Given the description of an element on the screen output the (x, y) to click on. 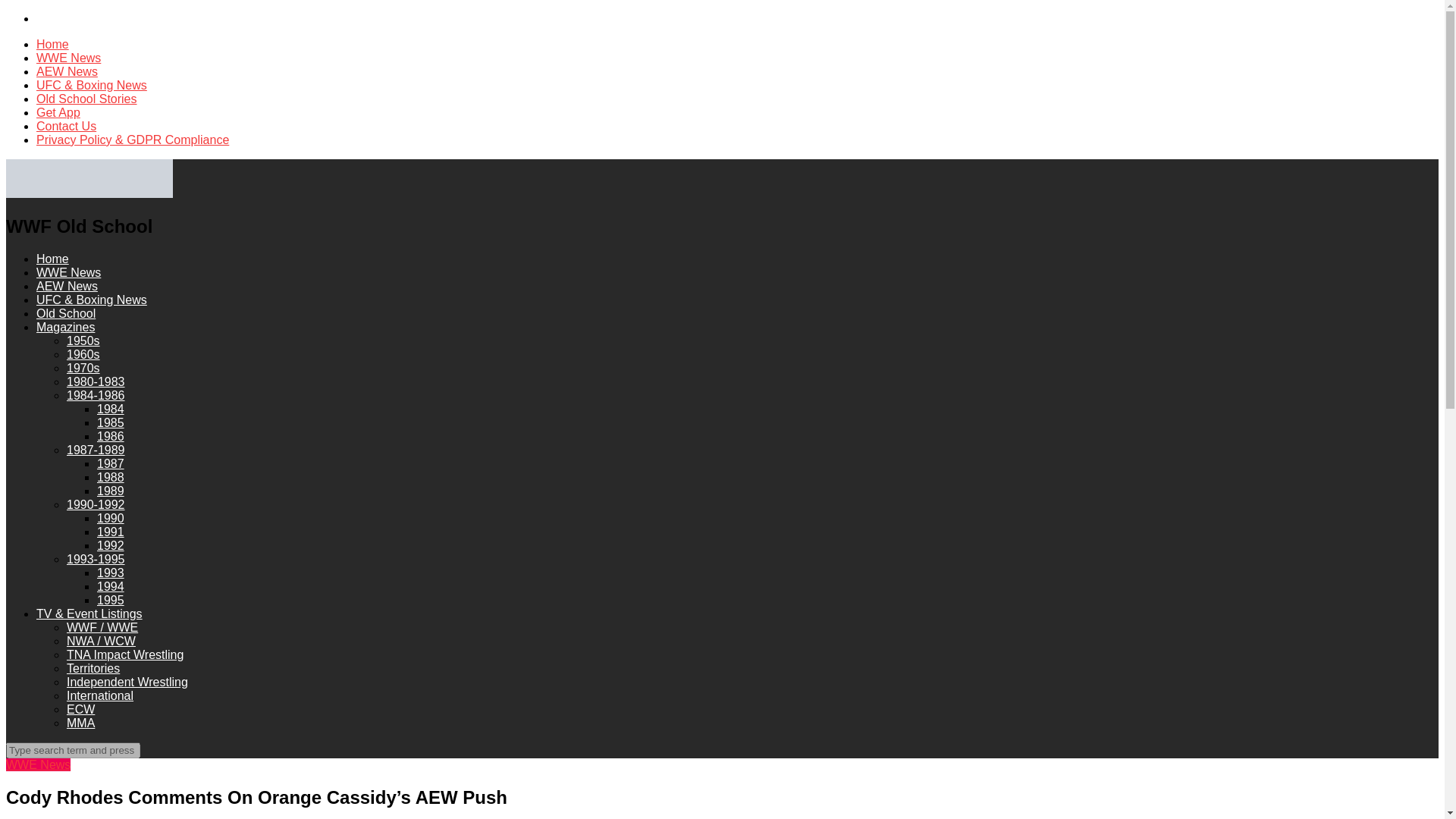
1991 (110, 531)
1993-1995 (95, 558)
Home (52, 43)
WWE News (68, 57)
Magazines (65, 327)
1986 (110, 436)
1990-1992 (95, 504)
1990 (110, 517)
Get App (58, 112)
1993 (110, 572)
